Given the description of an element on the screen output the (x, y) to click on. 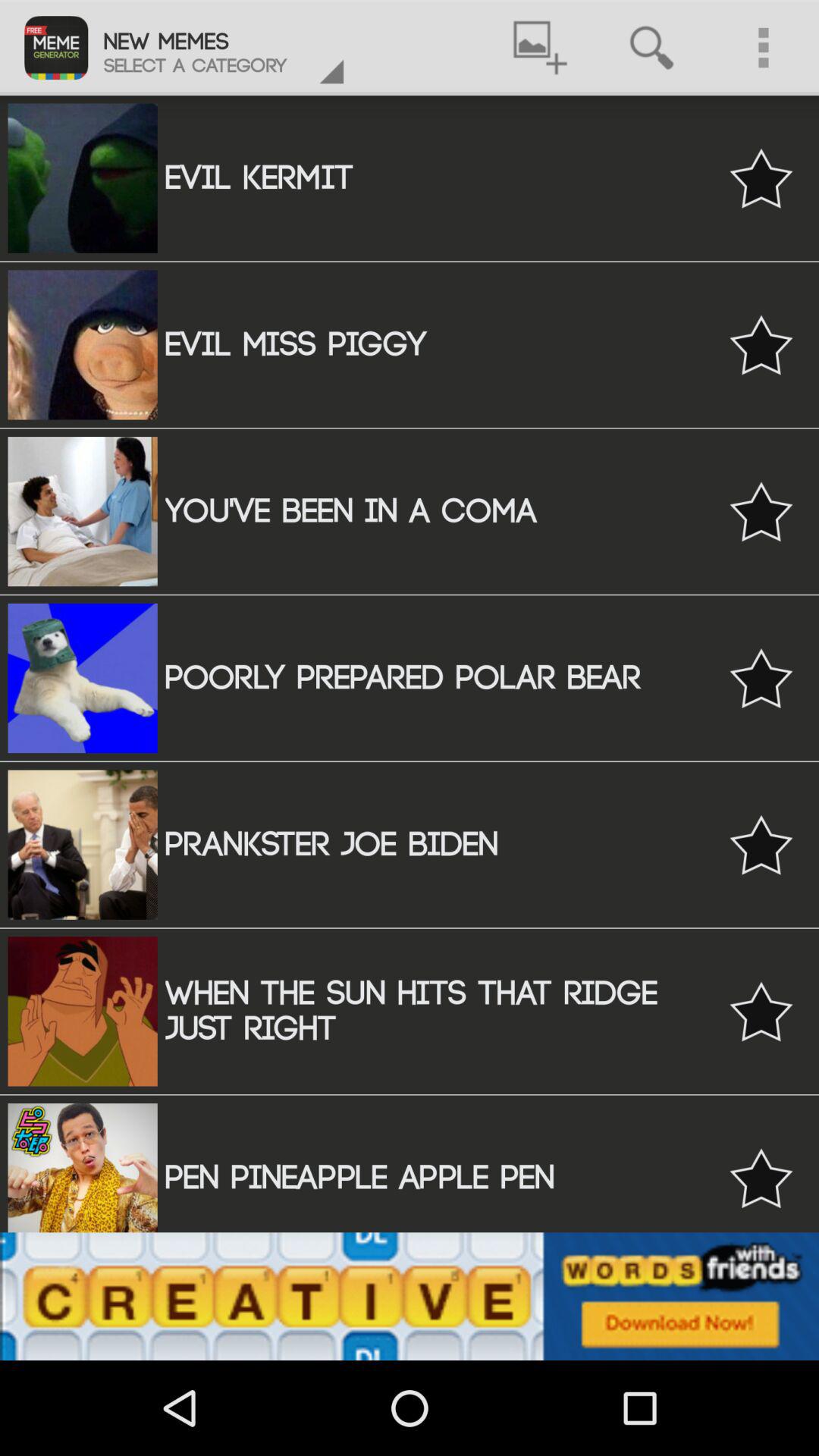
star button (761, 844)
